Given the description of an element on the screen output the (x, y) to click on. 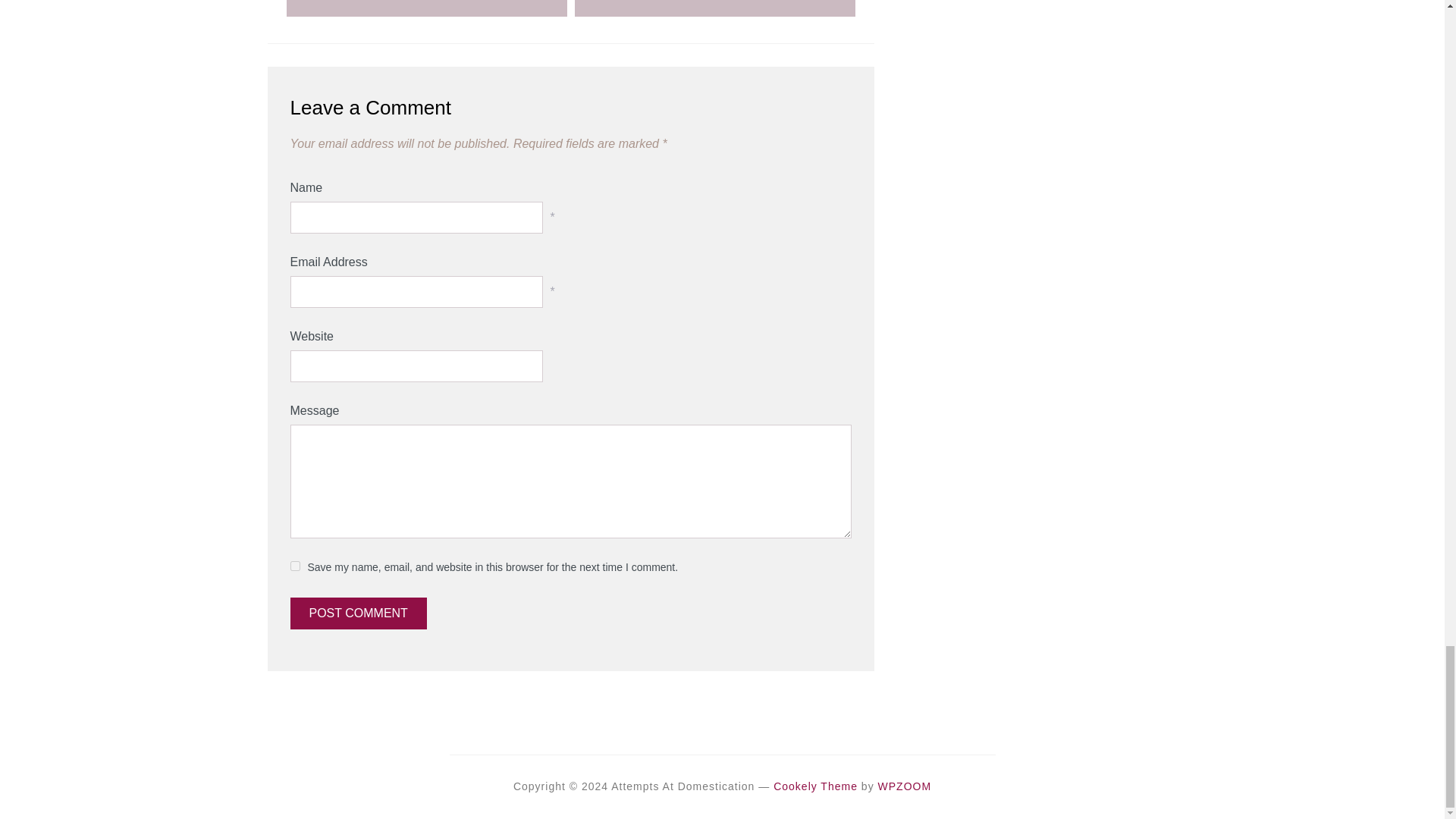
Post Comment (357, 613)
yes (294, 565)
Festive DIY Chalkboard Ornaments (714, 10)
Star Wars Christmas Tree (426, 10)
